Given the description of an element on the screen output the (x, y) to click on. 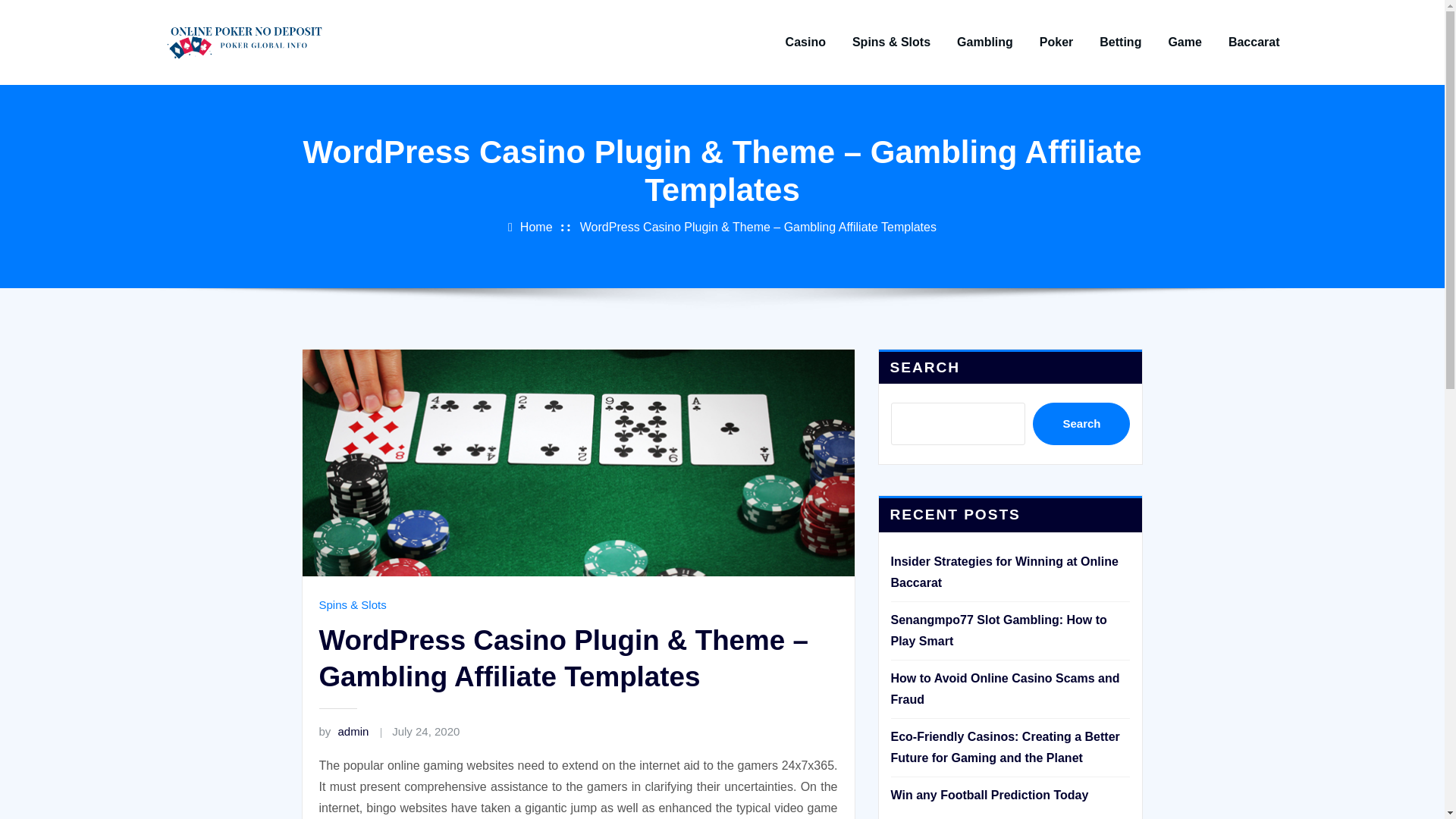
Gambling (984, 42)
Win any Football Prediction Today (988, 794)
Poker (1056, 42)
Game (1184, 42)
by admin (343, 730)
Casino (805, 42)
Home (536, 226)
Baccarat (1253, 42)
Insider Strategies for Winning at Online Baccarat (1003, 571)
How to Avoid Online Casino Scams and Fraud (1004, 688)
Senangmpo77 Slot Gambling: How to Play Smart (997, 630)
Betting (1120, 42)
July 24, 2020 (425, 730)
Search (1080, 423)
